Given the description of an element on the screen output the (x, y) to click on. 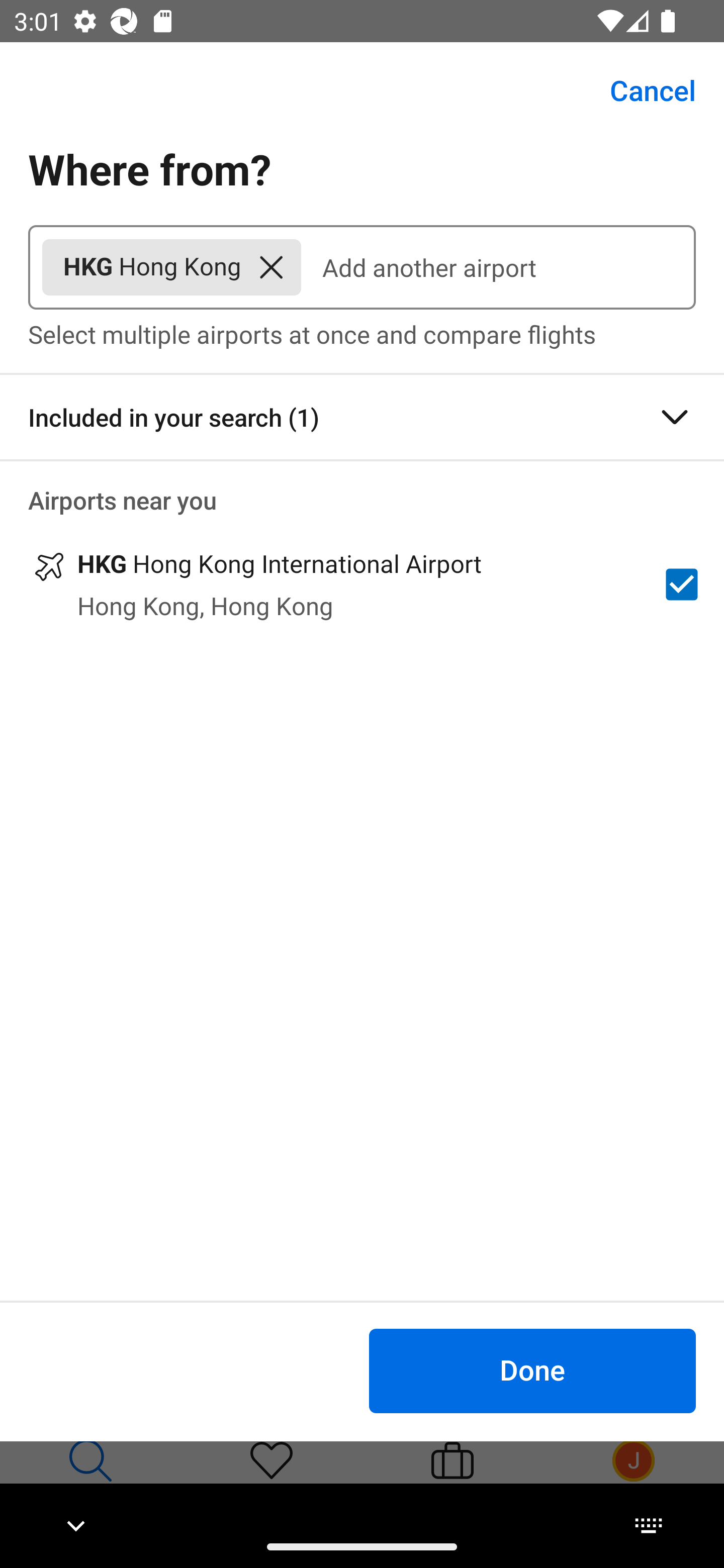
Cancel (641, 90)
Add another airport (498, 266)
HKG Hong Kong Remove HKG Hong Kong (171, 266)
Included in your search (1) (362, 416)
Done (532, 1370)
